Given the description of an element on the screen output the (x, y) to click on. 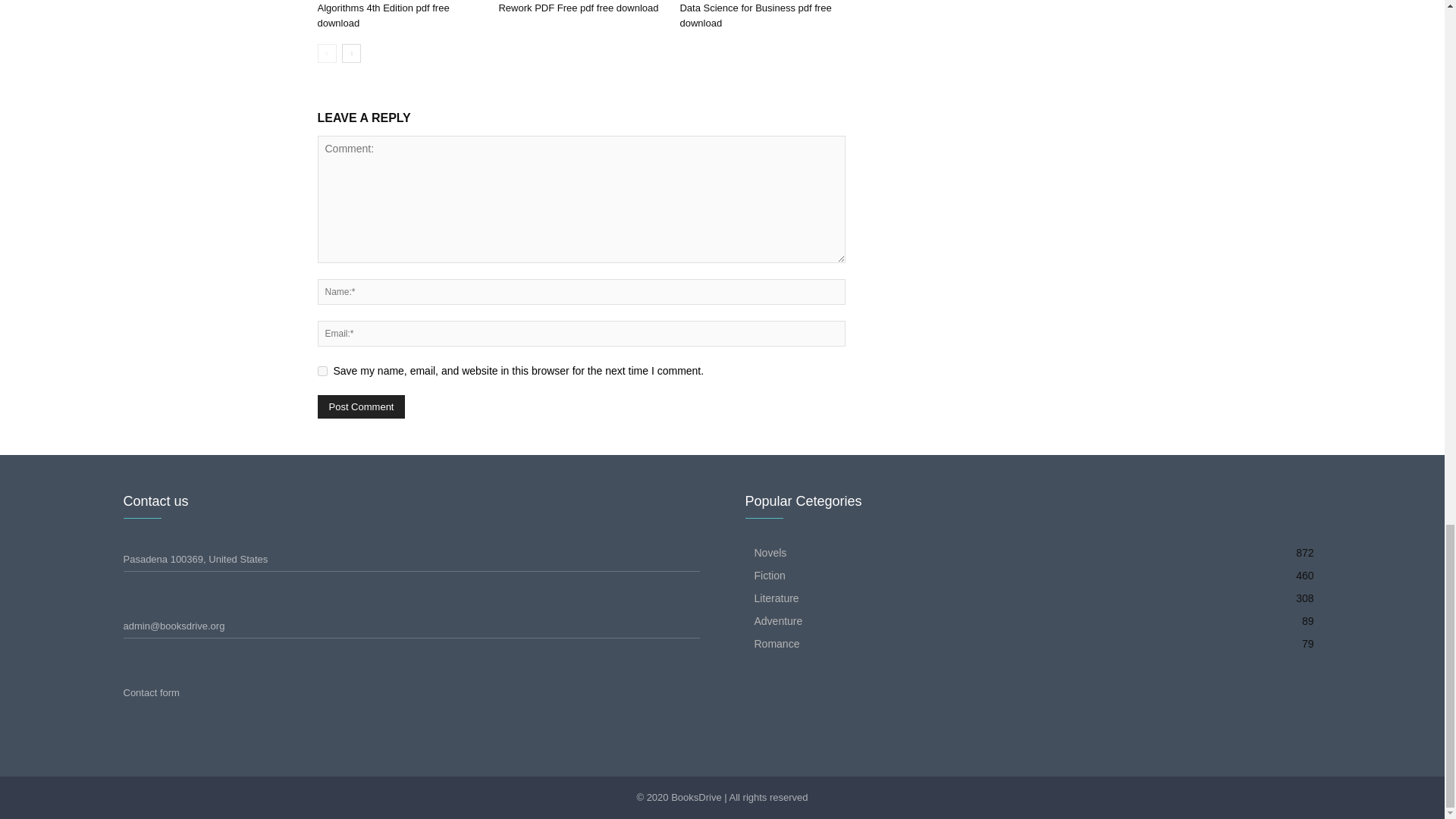
Post Comment (360, 406)
yes (321, 370)
